Given the description of an element on the screen output the (x, y) to click on. 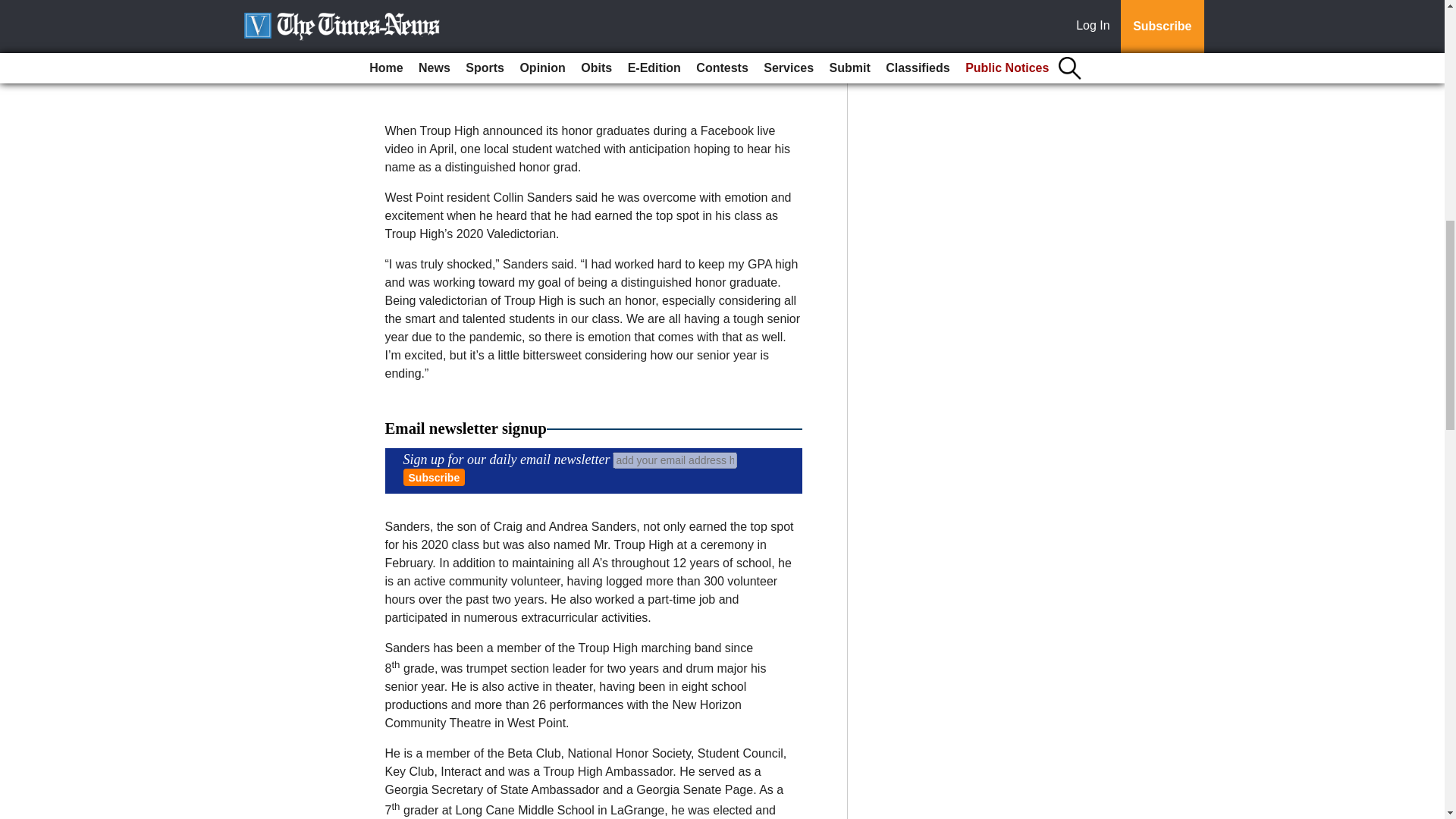
Subscribe (434, 477)
Trinity Audio Player (592, 47)
Subscribe (434, 477)
